Given the description of an element on the screen output the (x, y) to click on. 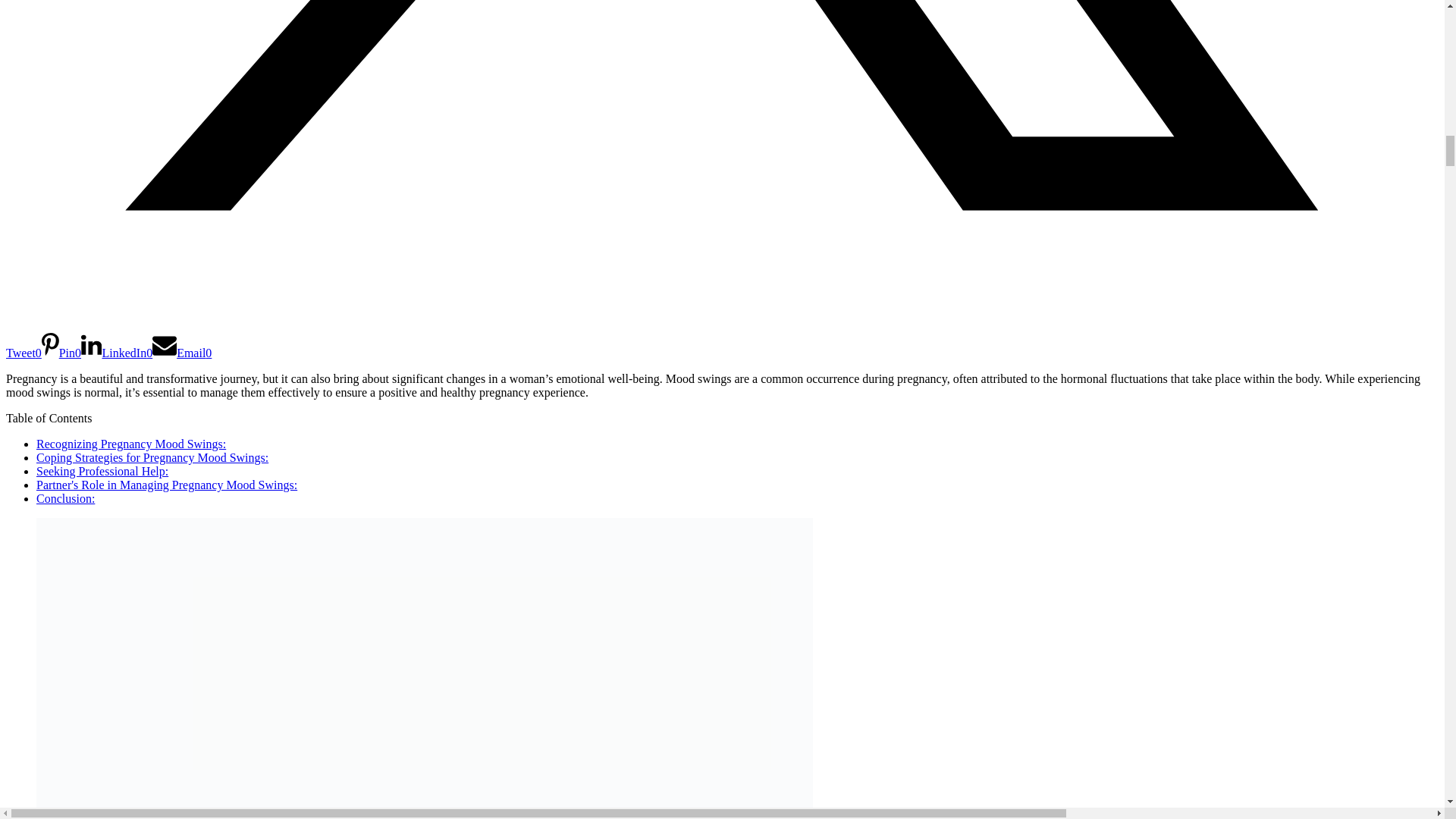
Tweet0 (721, 339)
LinkedIn0 (116, 352)
Share via Email (181, 352)
Conclusion: (65, 498)
Share on Twitter (721, 339)
Share on Pinterest (61, 352)
Partner's Role in Managing Pregnancy Mood Swings: (166, 484)
Share on LinkedIn (116, 352)
Email0 (181, 352)
Pin0 (61, 352)
Seeking Professional Help: (102, 471)
Coping Strategies for Pregnancy Mood Swings: (151, 457)
Email0 (181, 352)
Recognizing Pregnancy Mood Swings: (130, 443)
